Given the description of an element on the screen output the (x, y) to click on. 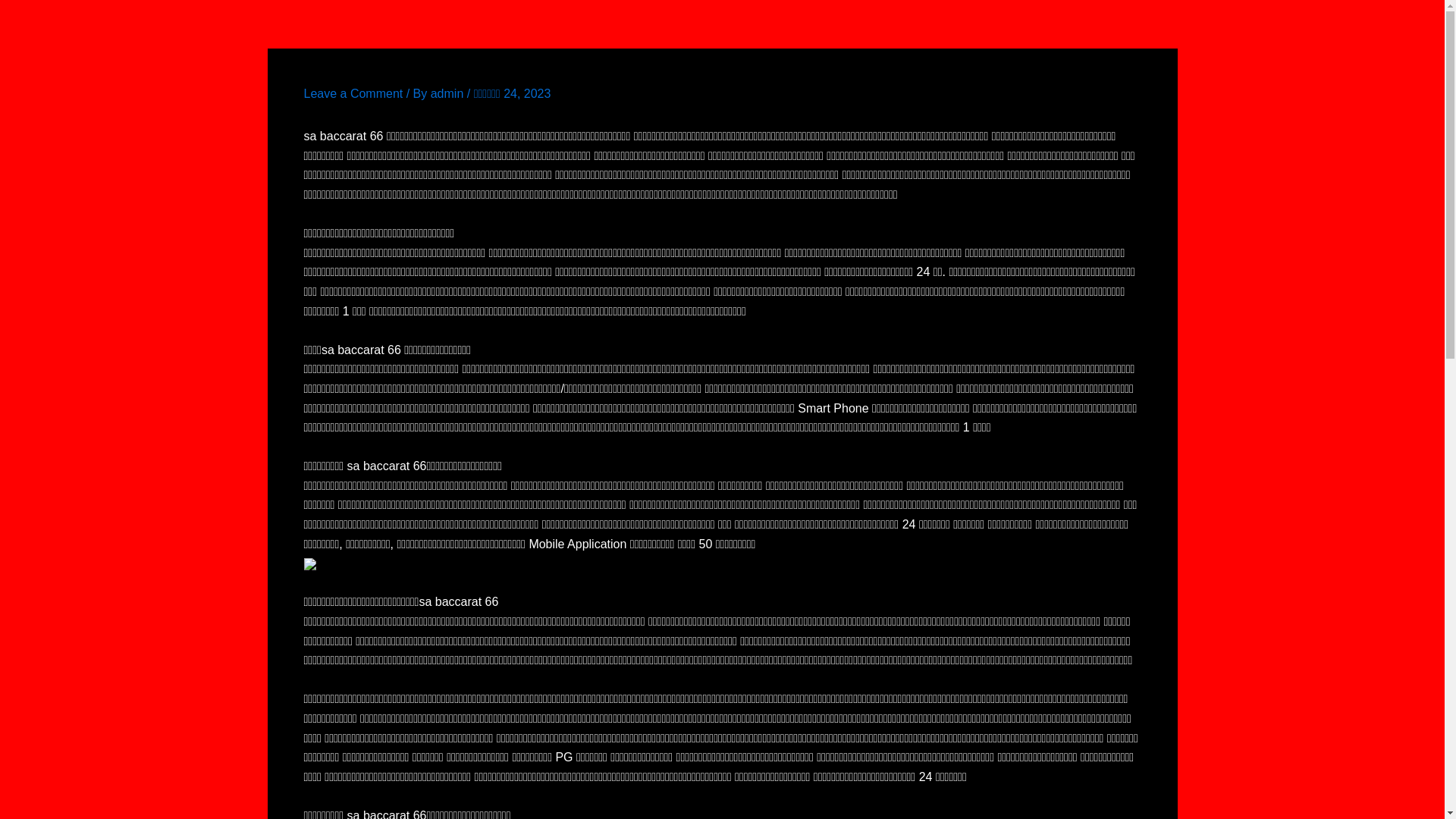
admin Element type: text (448, 93)
Leave a Comment Element type: text (352, 93)
